Given the description of an element on the screen output the (x, y) to click on. 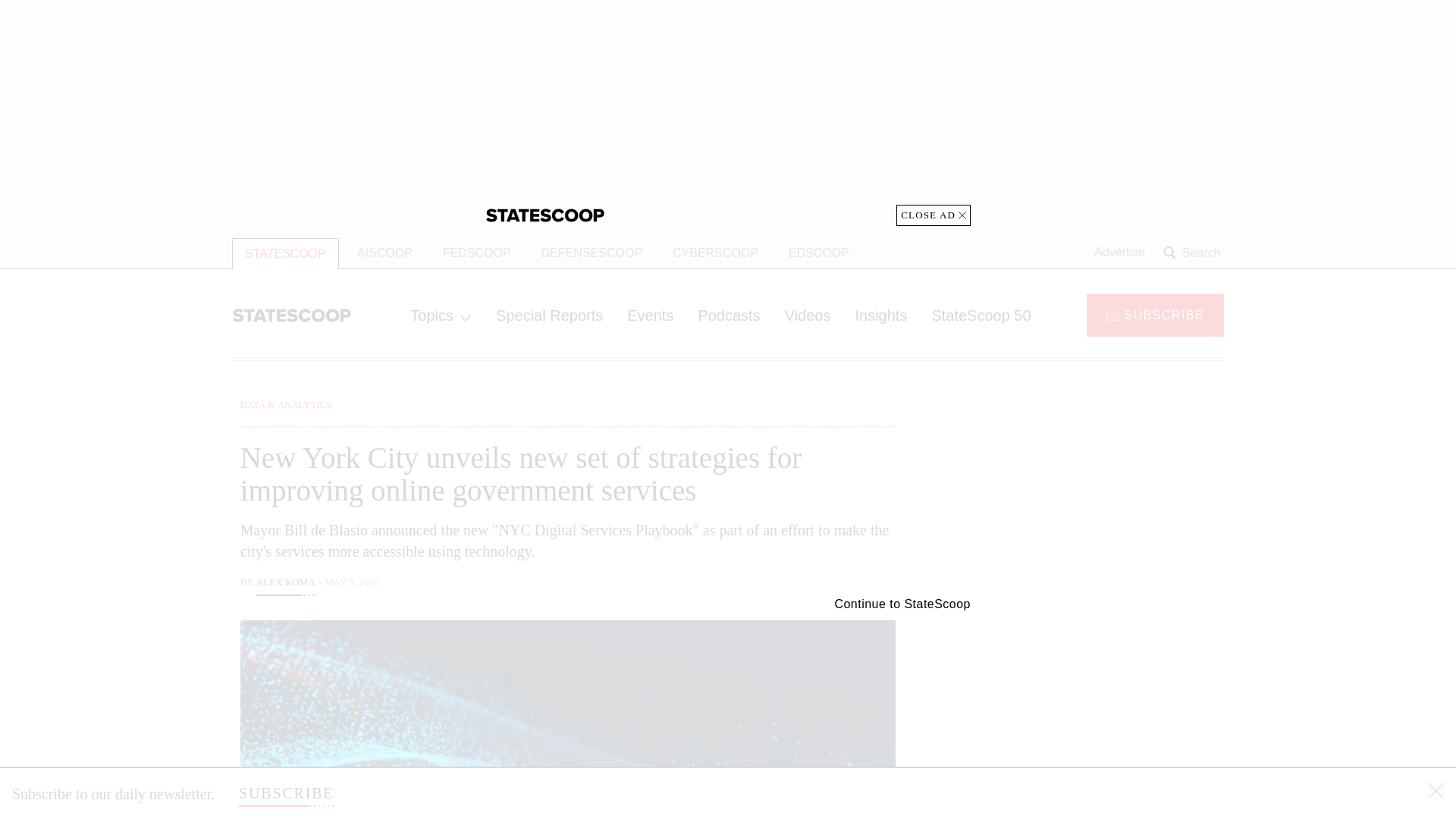
SUBSCRIBE (1155, 314)
Insights (880, 315)
Search (1193, 252)
Special Reports (548, 315)
Events (649, 315)
DEFENSESCOOP (591, 253)
STATESCOOP (285, 253)
SUBSCRIBE (285, 793)
Topics (440, 315)
StateScoop 50 (980, 315)
ALEX KOMA (285, 583)
AISCOOP (385, 253)
EDSCOOP (818, 253)
